Given the description of an element on the screen output the (x, y) to click on. 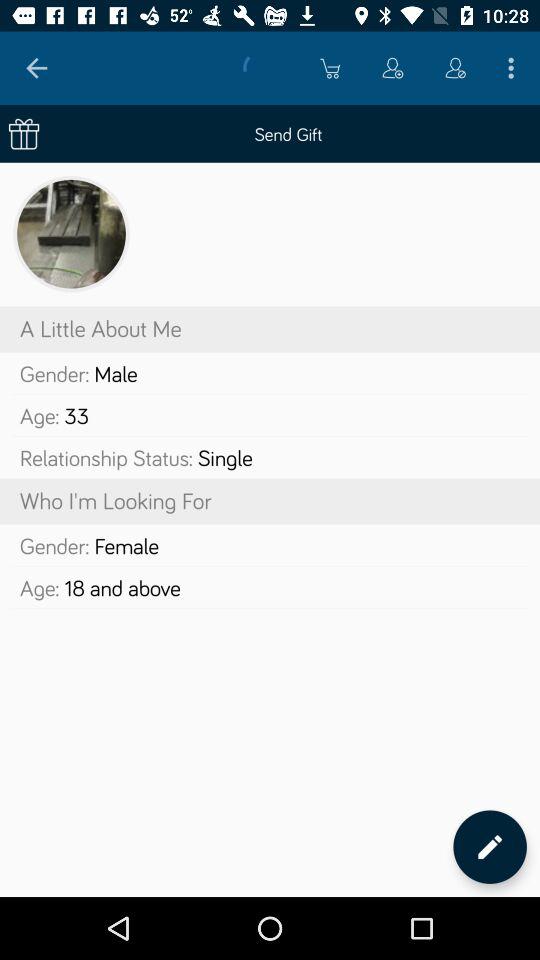
select the icon above send gift item (455, 67)
